Given the description of an element on the screen output the (x, y) to click on. 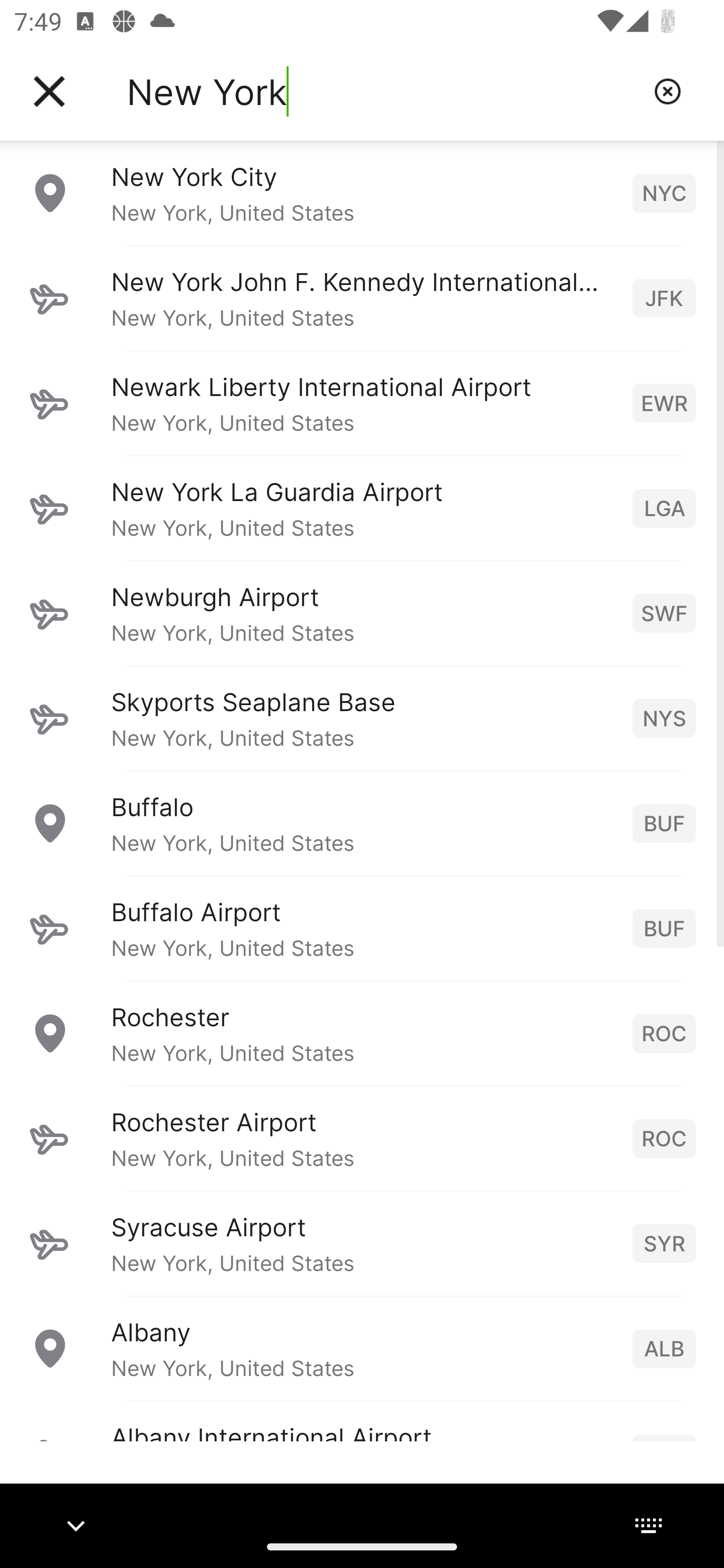
New York (382, 91)
New York City New York, United States NYC (362, 192)
Newburgh Airport New York, United States SWF (362, 612)
Skyports Seaplane Base New York, United States NYS (362, 717)
Buffalo New York, United States BUF (362, 822)
Buffalo Airport New York, United States BUF (362, 928)
Rochester New York, United States ROC (362, 1033)
Rochester Airport New York, United States ROC (362, 1138)
Syracuse Airport New York, United States SYR (362, 1243)
Albany New York, United States ALB (362, 1348)
